Given the description of an element on the screen output the (x, y) to click on. 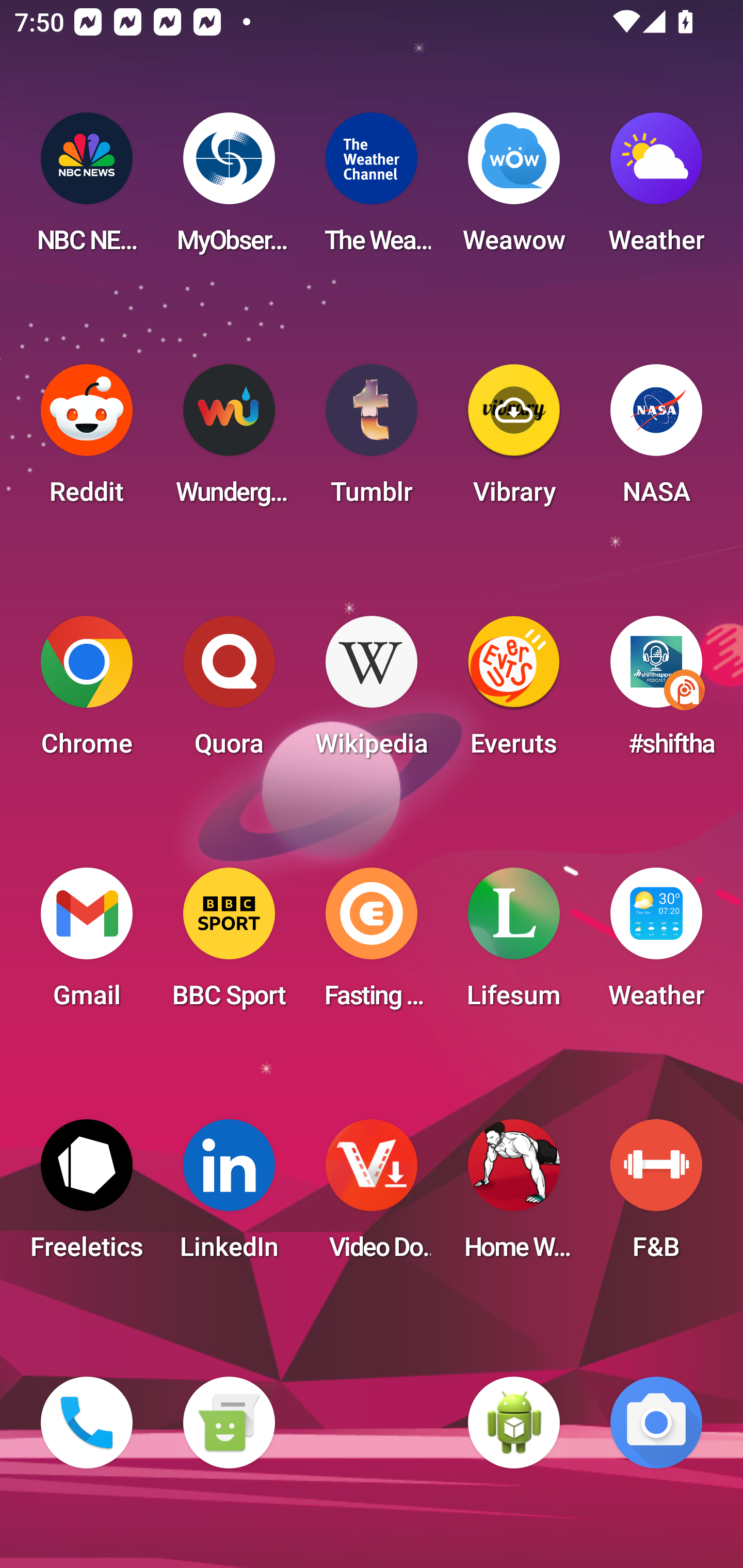
NBC NEWS (86, 188)
MyObservatory (228, 188)
The Weather Channel (371, 188)
Weawow (513, 188)
Weather (656, 188)
Reddit (86, 440)
Wunderground (228, 440)
Tumblr (371, 440)
Vibrary (513, 440)
NASA (656, 440)
Chrome (86, 692)
Quora (228, 692)
Wikipedia (371, 692)
Everuts (513, 692)
#shifthappens in the Digital Workplace Podcast (656, 692)
Gmail (86, 943)
BBC Sport (228, 943)
Fasting Coach (371, 943)
Lifesum (513, 943)
Weather (656, 943)
Freeletics (86, 1195)
LinkedIn (228, 1195)
Video Downloader & Ace Player (371, 1195)
Home Workout (513, 1195)
F&B (656, 1195)
Phone (86, 1422)
Messaging (228, 1422)
WebView Browser Tester (513, 1422)
Camera (656, 1422)
